Given the description of an element on the screen output the (x, y) to click on. 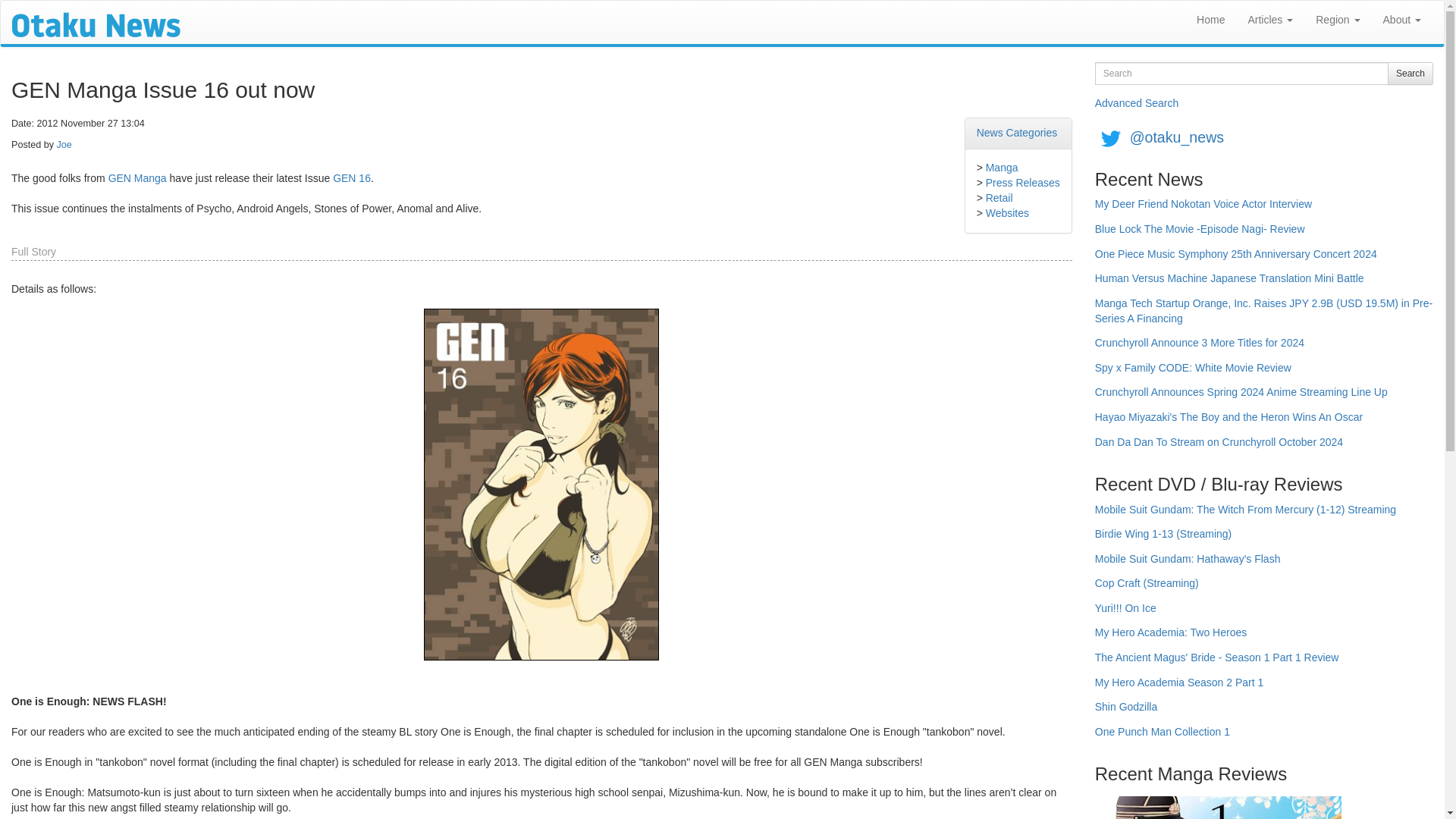
Joe (63, 144)
Press Releases (1022, 182)
Region (1337, 19)
Retail (999, 197)
Articles (1270, 19)
Blue Lock The Movie -Episode Nagi- Review (1199, 234)
Crunchyroll Announce 3 More Titles for 2024 (1199, 348)
GEN Manga (137, 177)
Advanced Search (1136, 102)
Manga (1001, 167)
Human Versus Machine Japanese Translation Mini Battle (1229, 283)
Search (1409, 73)
My Deer Friend Nokotan Voice Actor Interview (1202, 209)
GEN 16 (352, 177)
News Categories (1017, 132)
